Given the description of an element on the screen output the (x, y) to click on. 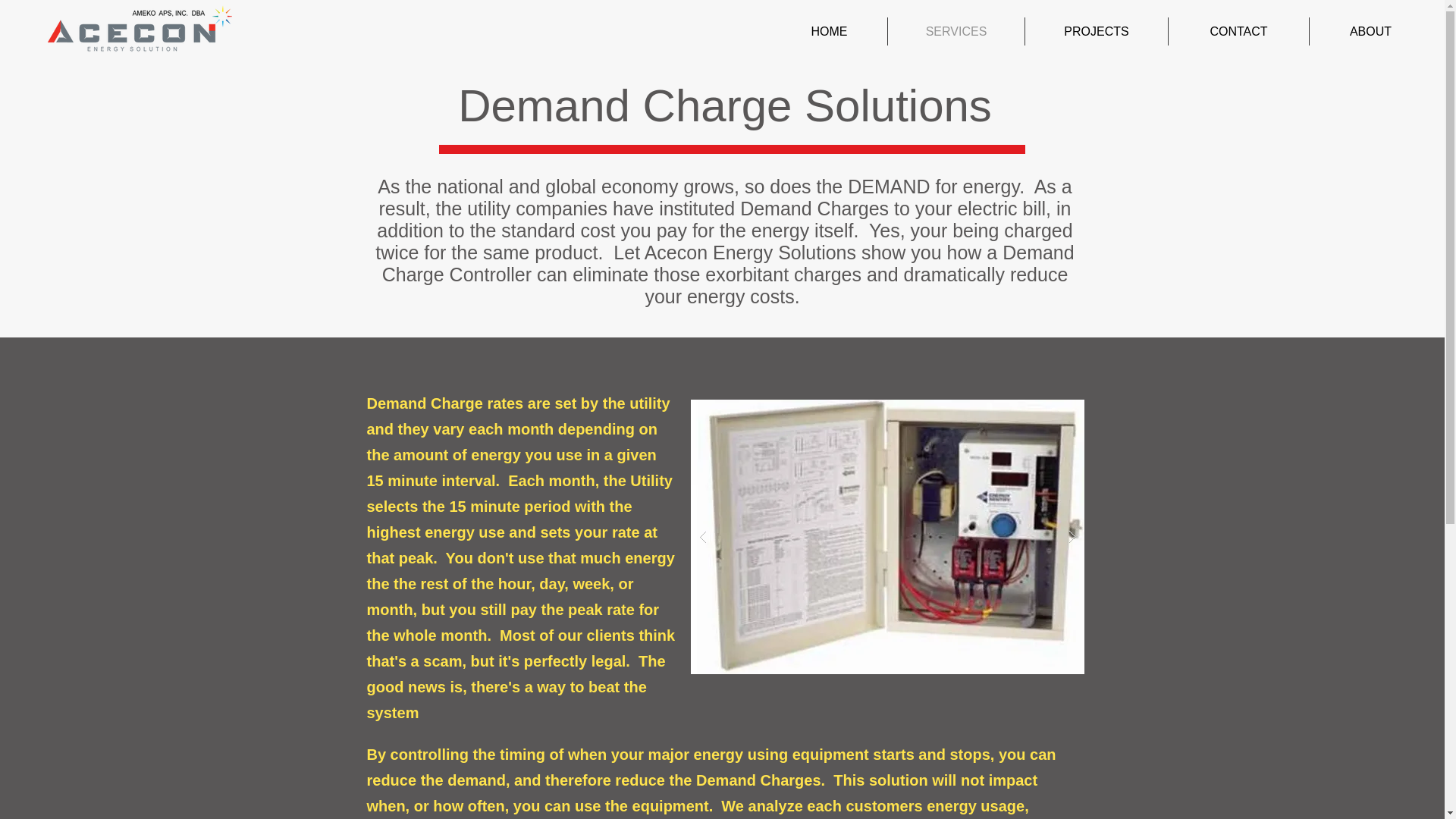
PROJECTS (1096, 31)
ABOUT (1369, 31)
HOME (828, 31)
SERVICES (956, 31)
CONTACT (1238, 31)
